Given the description of an element on the screen output the (x, y) to click on. 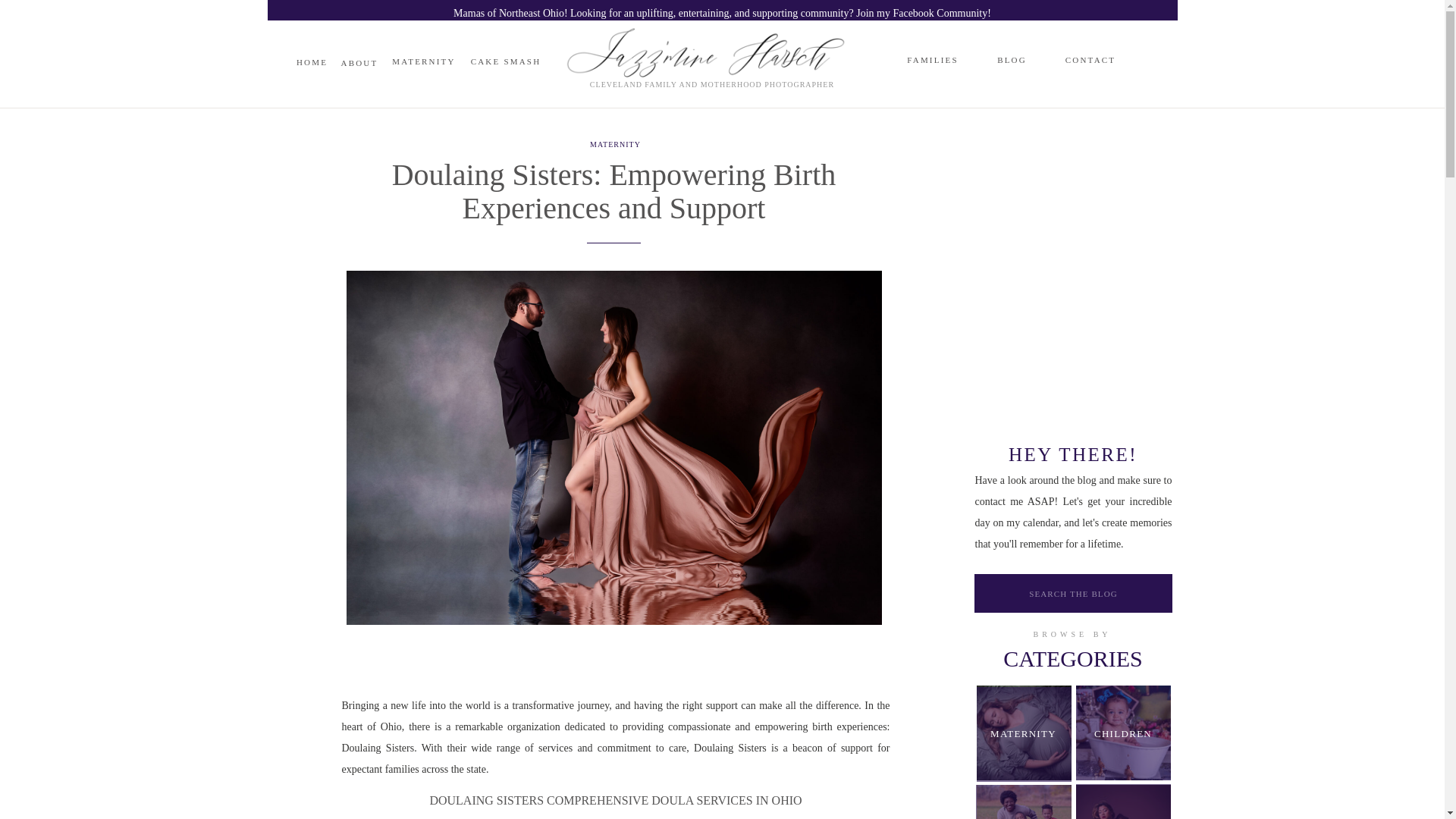
BLOG (1011, 59)
HOME (311, 62)
FAMILIES (931, 42)
MATERNITY (1023, 732)
CHILDREN (1123, 734)
ABOUT (374, 40)
Jazzmine Harsch (722, 32)
CAKE SMASH (506, 62)
MATERNITY (424, 62)
